Given the description of an element on the screen output the (x, y) to click on. 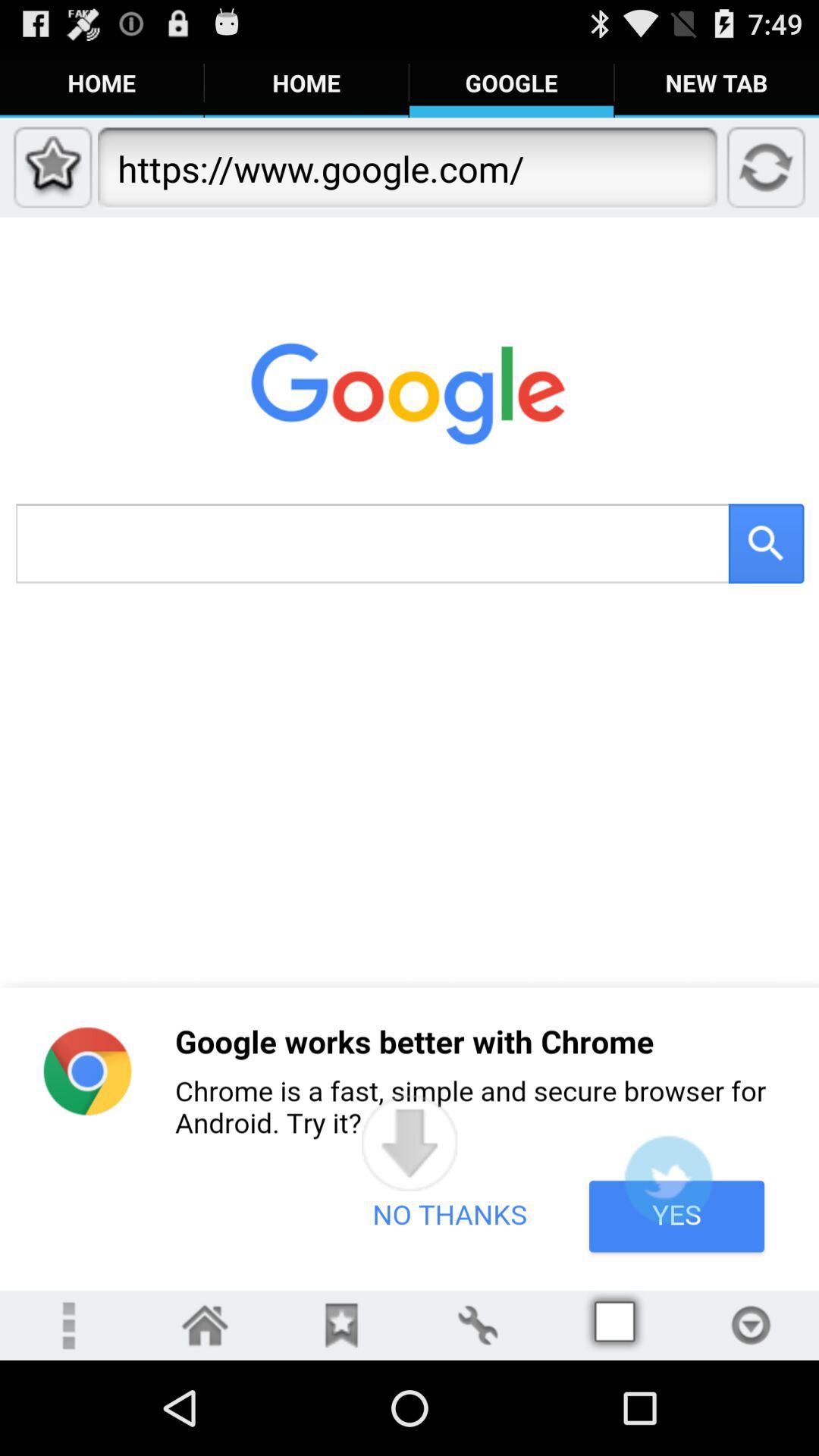
select twitter (668, 1179)
